Given the description of an element on the screen output the (x, y) to click on. 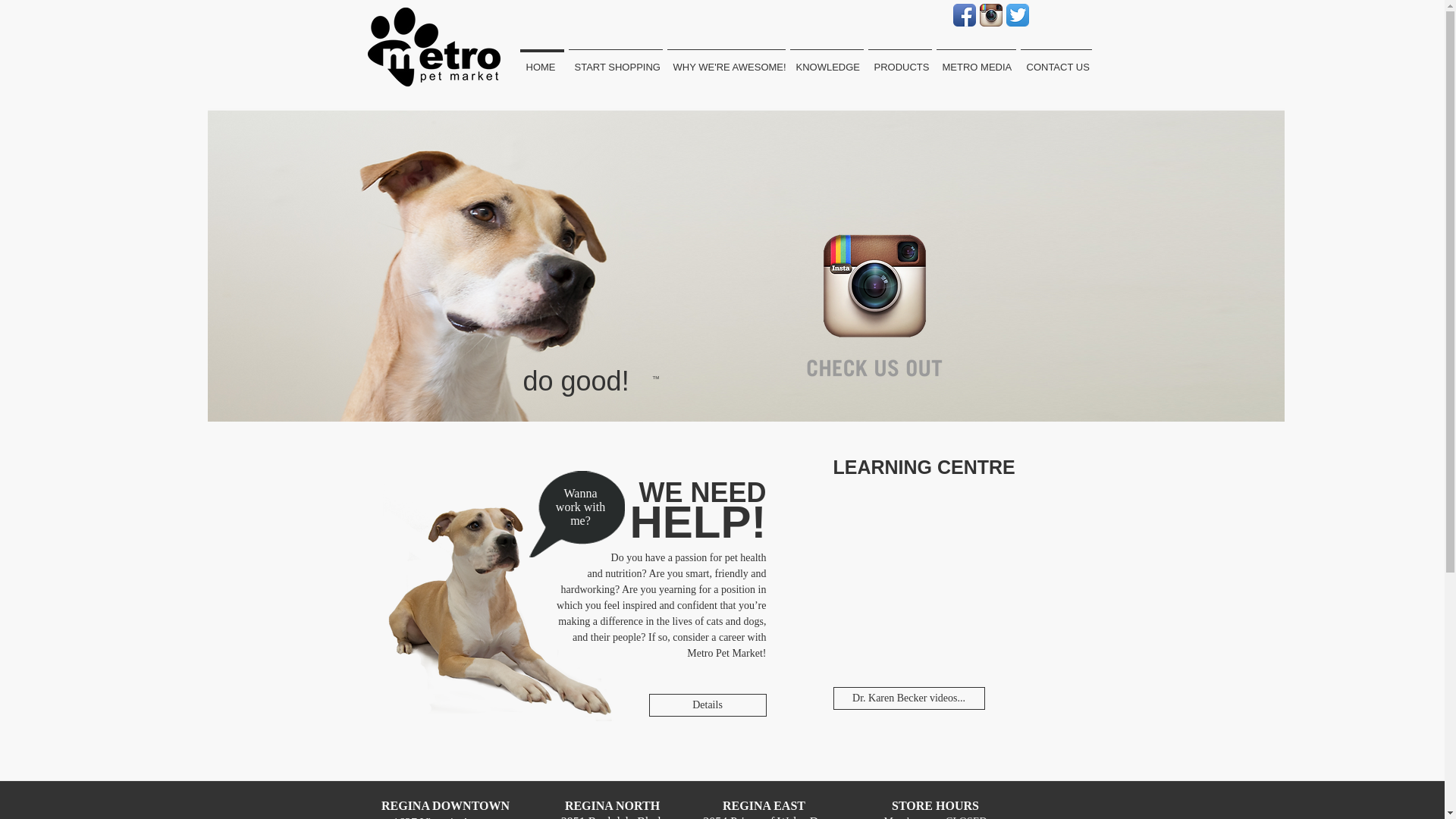
Details (708, 704)
PRODUCTS (900, 60)
External YouTube (955, 565)
KNOWLEDGE (825, 60)
START SHOPPING (614, 60)
Dr. Karen Becker videos... (908, 698)
WHY WE'RE AWESOME! (725, 60)
CONTACT US (1055, 60)
Help Wante.png (576, 513)
METRO MEDIA (975, 60)
